Given the description of an element on the screen output the (x, y) to click on. 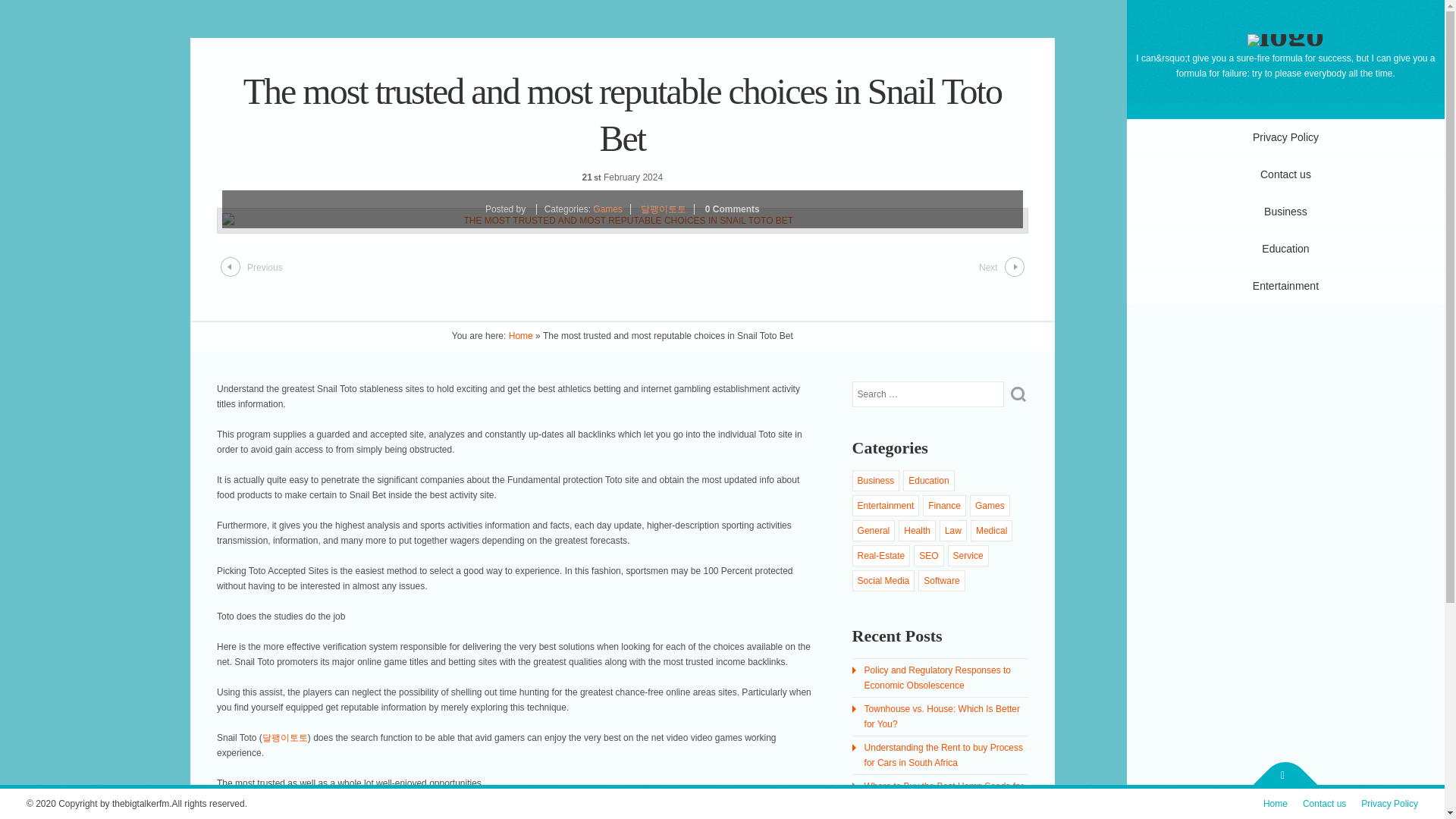
Games (611, 208)
2024 (652, 176)
Education (928, 480)
Games (989, 505)
Search (1018, 394)
21st (593, 176)
Business (876, 480)
Home (520, 335)
Health (917, 530)
General (873, 530)
The Adventures of Huckleberry (1285, 33)
Search (1018, 394)
Finance (944, 505)
0 Comments (732, 209)
